Given the description of an element on the screen output the (x, y) to click on. 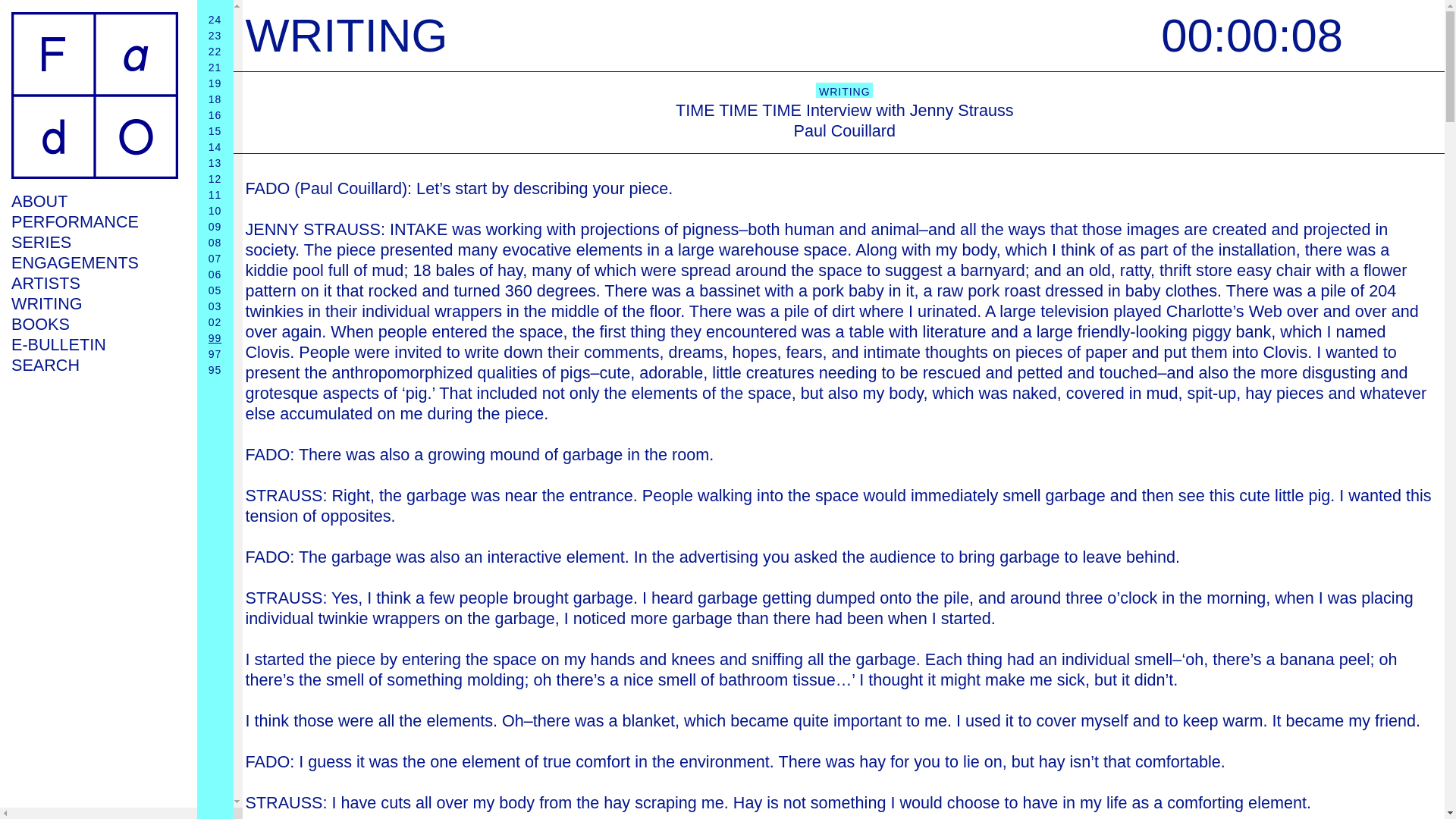
PERFORMANCE (94, 221)
21 (215, 67)
ABOUT (94, 200)
BOOKS (94, 323)
14 (215, 146)
09 (215, 226)
05 (215, 290)
15 (215, 131)
23 (215, 35)
06 (215, 274)
18 (215, 99)
ARTISTS (94, 282)
E-BULLETIN (94, 344)
16 (215, 114)
12 (215, 178)
